Given the description of an element on the screen output the (x, y) to click on. 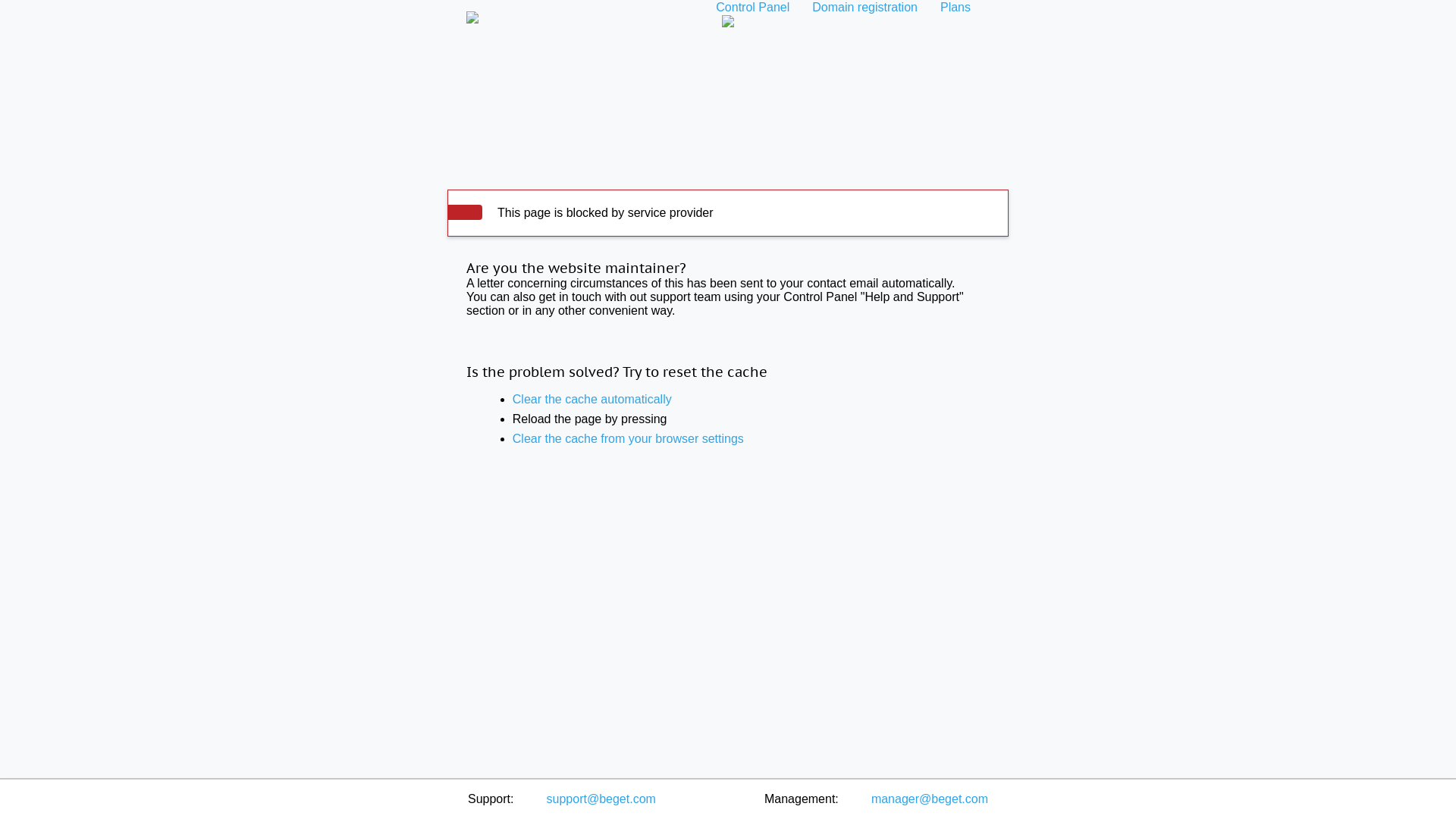
manager@beget.com Element type: text (929, 798)
Clear the cache from your browser settings Element type: text (627, 438)
Plans Element type: text (955, 6)
Domain registration Element type: text (864, 6)
Control Panel Element type: text (752, 6)
Web hosting home page Element type: hover (472, 7)
Clear the cache automatically Element type: text (591, 398)
support@beget.com Element type: text (600, 798)
